Given the description of an element on the screen output the (x, y) to click on. 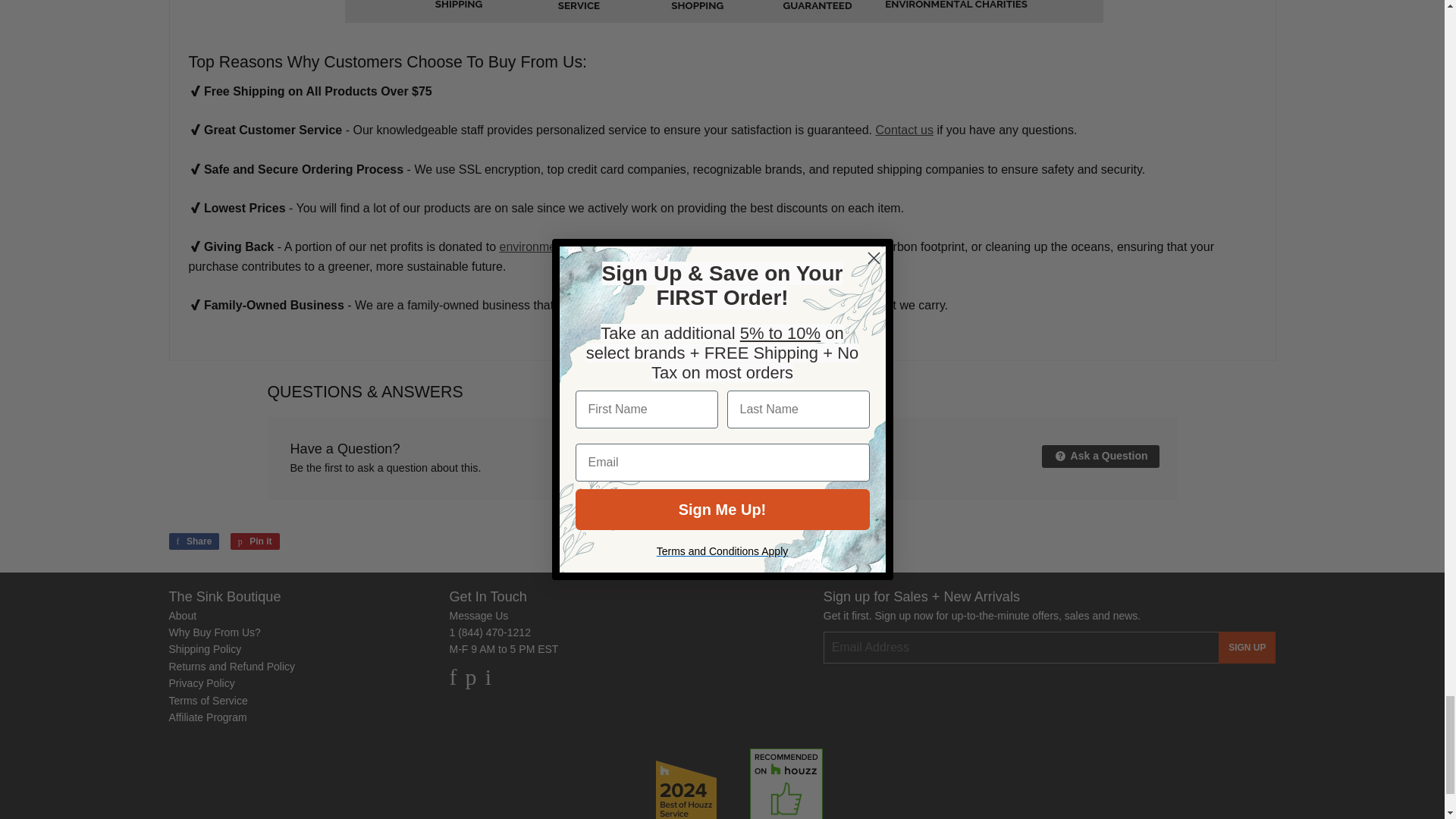
Sign Up (1246, 647)
